Given the description of an element on the screen output the (x, y) to click on. 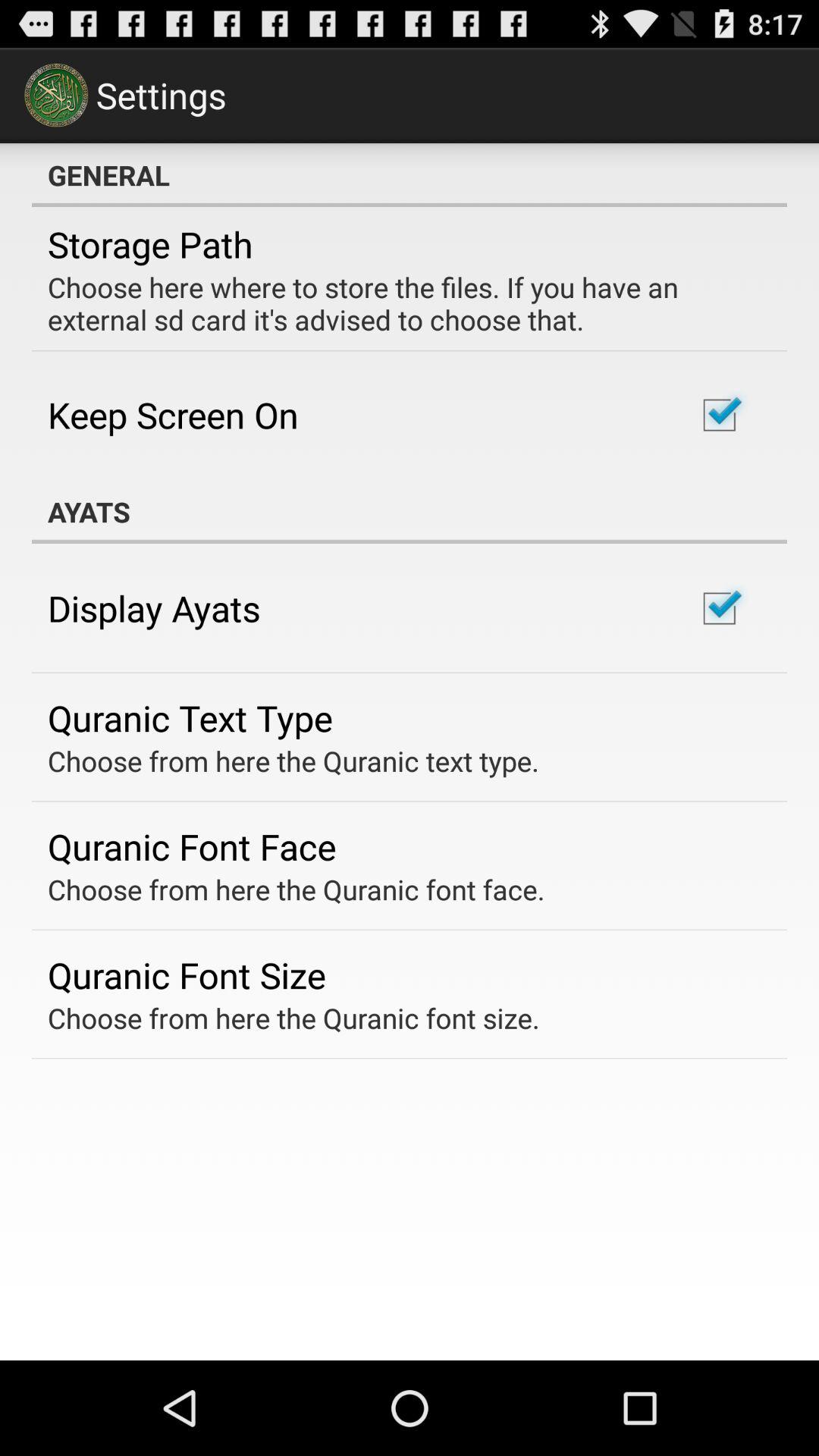
launch item below choose here where item (172, 414)
